Given the description of an element on the screen output the (x, y) to click on. 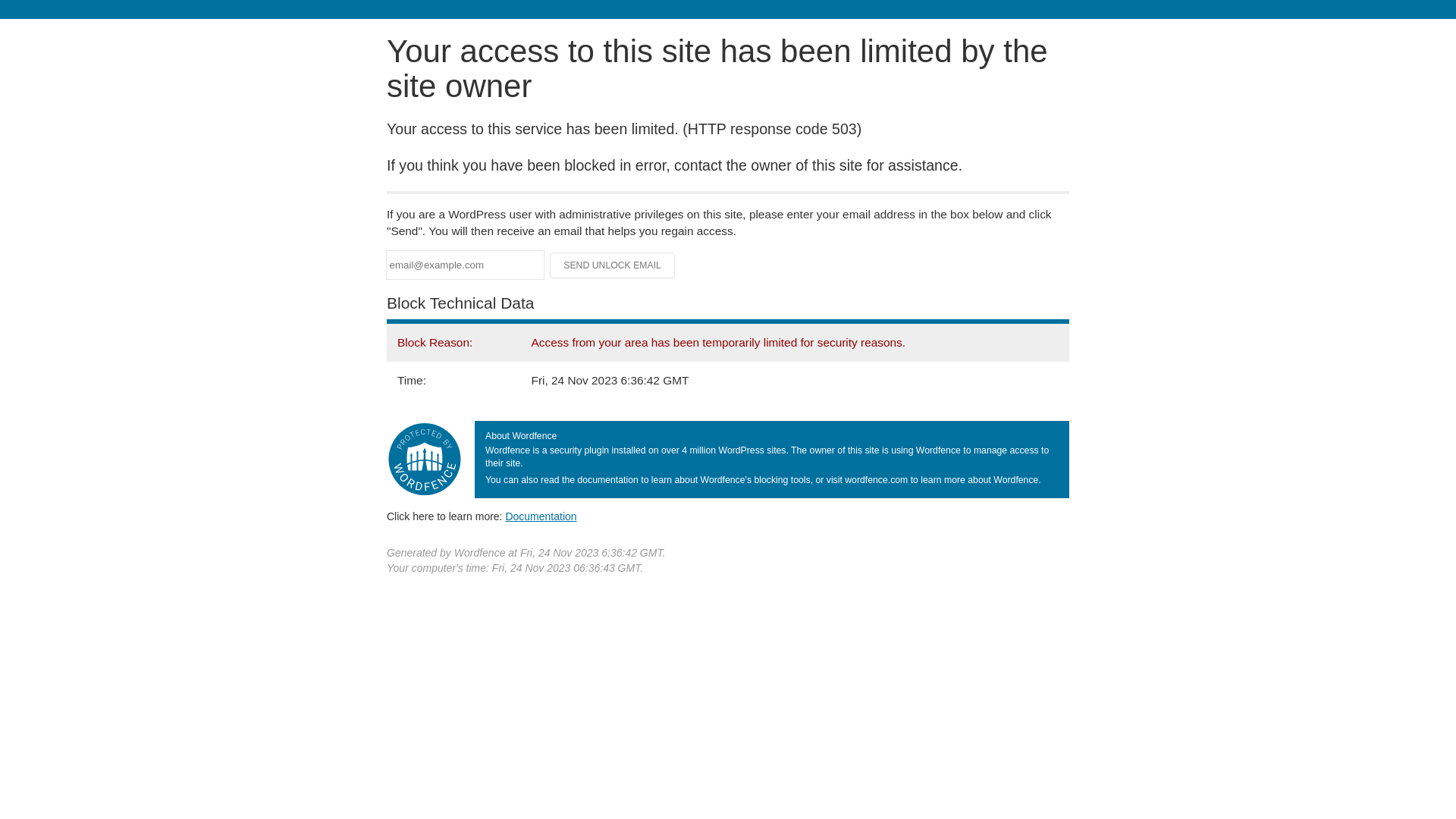
Send Unlock Email Element type: text (612, 265)
Documentation Element type: text (540, 516)
